Given the description of an element on the screen output the (x, y) to click on. 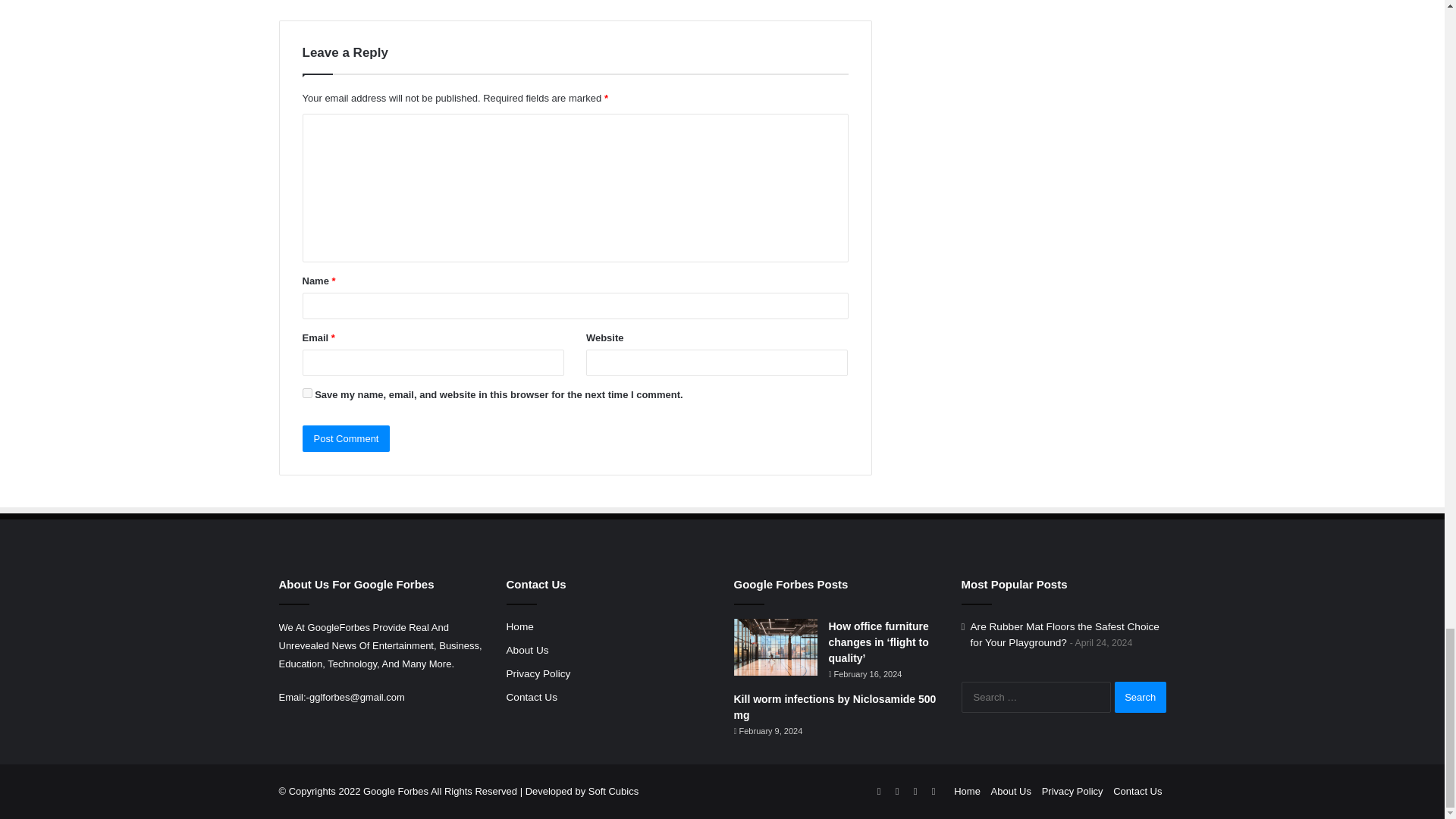
Post Comment (345, 438)
Search (1140, 696)
yes (306, 393)
Search (1140, 696)
